Given the description of an element on the screen output the (x, y) to click on. 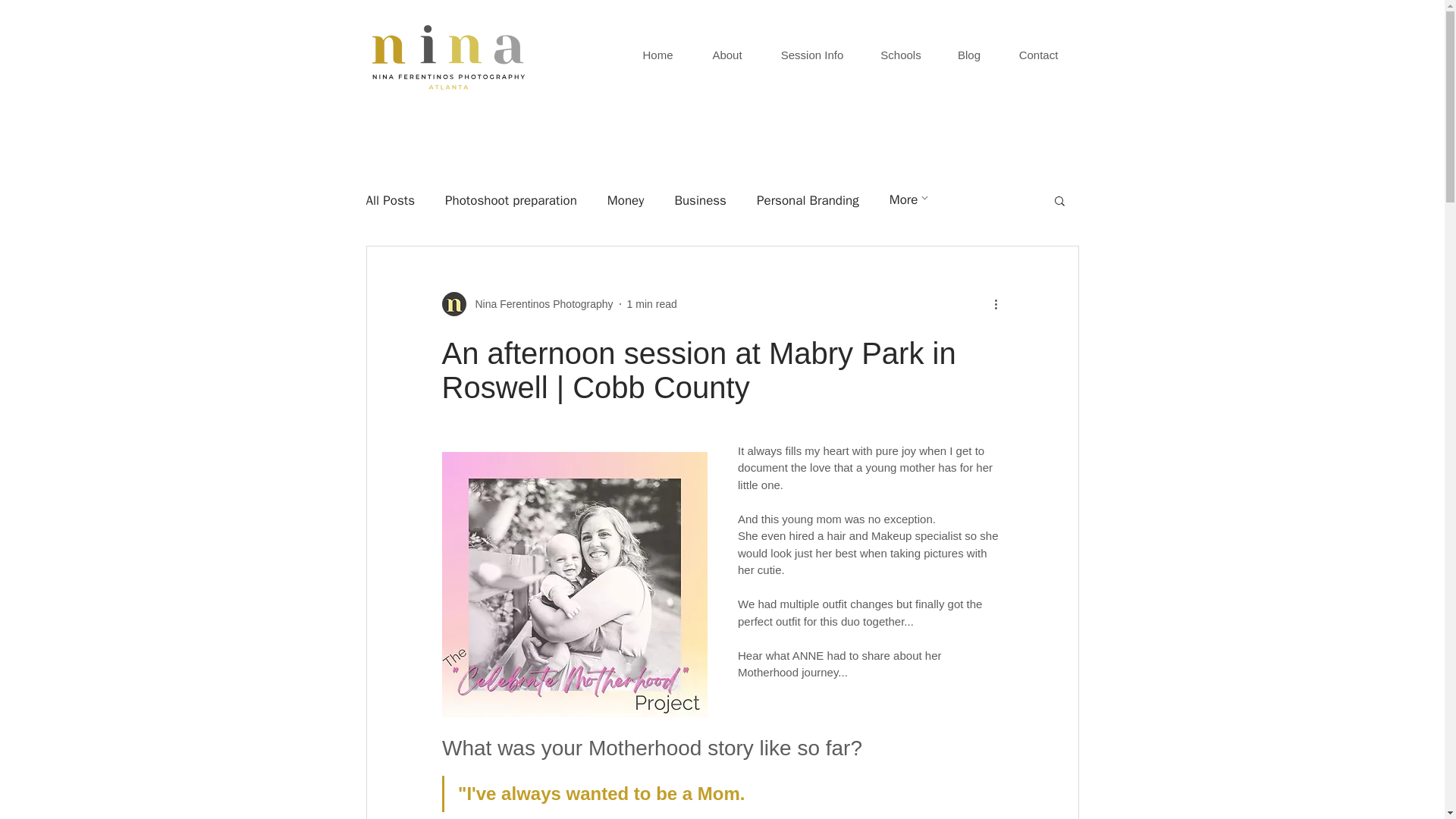
Blog (968, 54)
Business (700, 199)
Schools (901, 54)
Session Info (811, 54)
Money (626, 199)
Contact (1038, 54)
Nina Ferentinos Photography  (538, 303)
About (727, 54)
1 min read (652, 303)
All Posts (389, 199)
Nina Ferentinos Photography (526, 303)
Photoshoot preparation (510, 199)
Home (658, 54)
Personal Branding (808, 199)
